Given the description of an element on the screen output the (x, y) to click on. 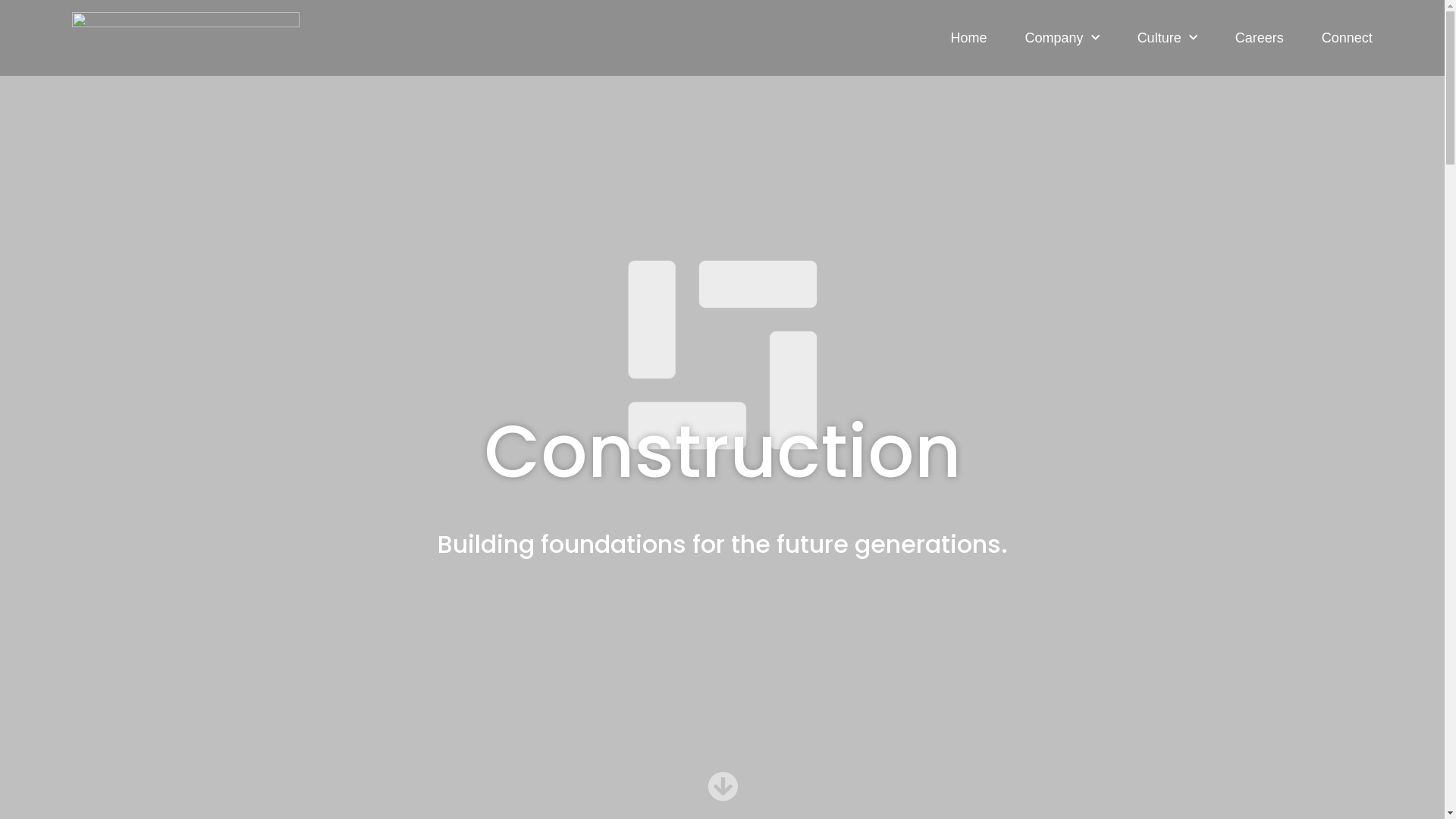
Culture Element type: text (1167, 37)
Home Element type: text (968, 37)
Company Element type: text (1062, 37)
Careers Element type: text (1259, 37)
Connect Element type: text (1346, 37)
